Given the description of an element on the screen output the (x, y) to click on. 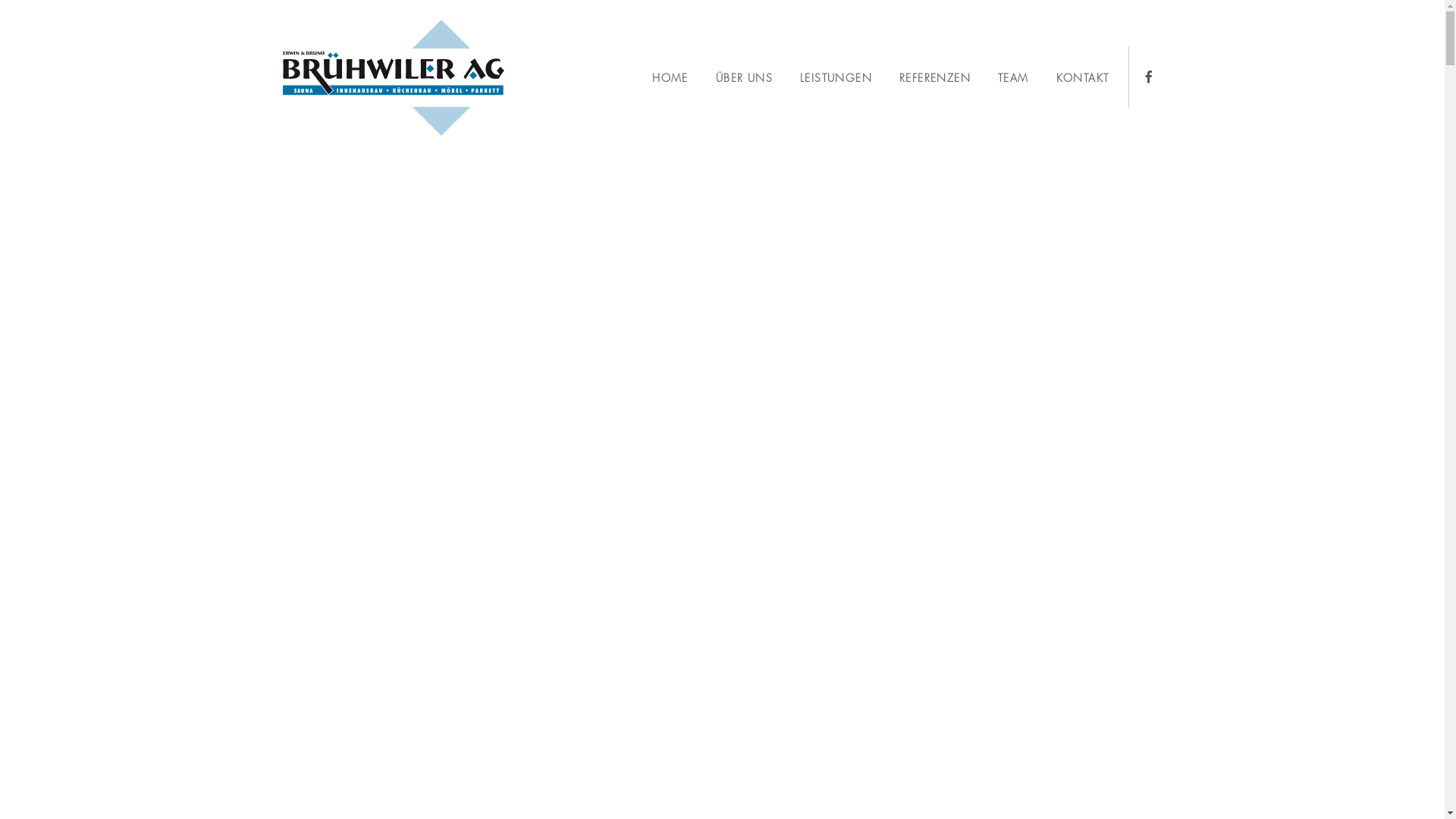
LEISTUNGEN Element type: text (836, 77)
REFERENZEN Element type: text (934, 77)
TEAM Element type: text (1013, 77)
KONTAKT Element type: text (1082, 77)
HOME Element type: text (670, 77)
